Given the description of an element on the screen output the (x, y) to click on. 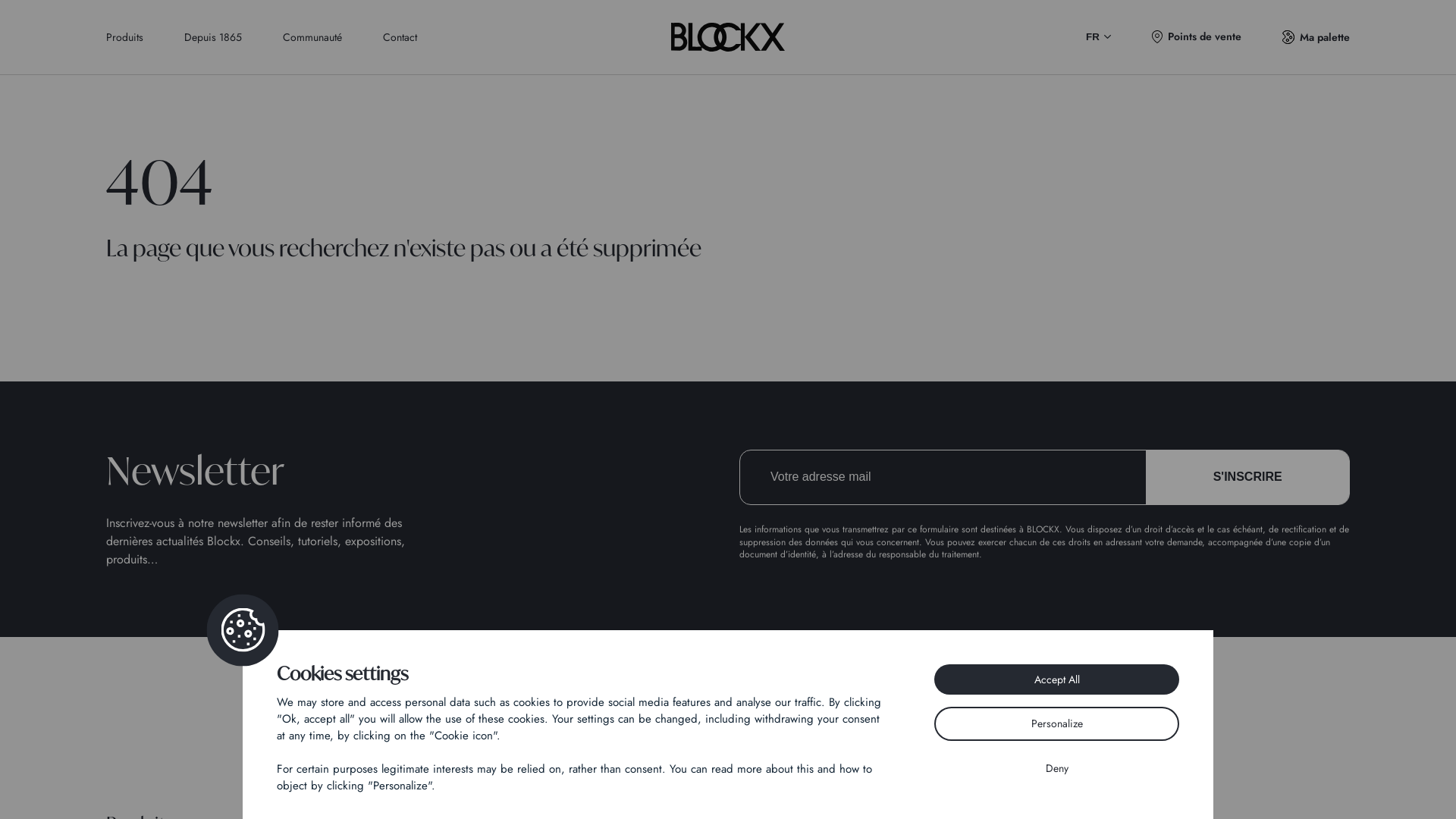
Depuis 1865 Element type: text (212, 36)
Personalize Element type: text (1056, 723)
Deny Element type: text (1056, 768)
Contact Element type: text (399, 36)
Produits Element type: text (124, 36)
Home Element type: hover (727, 755)
Ma palette Element type: text (1315, 36)
S'INSCRIRE Element type: text (1247, 477)
Points de vente Element type: text (1196, 36)
Accept All Element type: text (1056, 679)
